Given the description of an element on the screen output the (x, y) to click on. 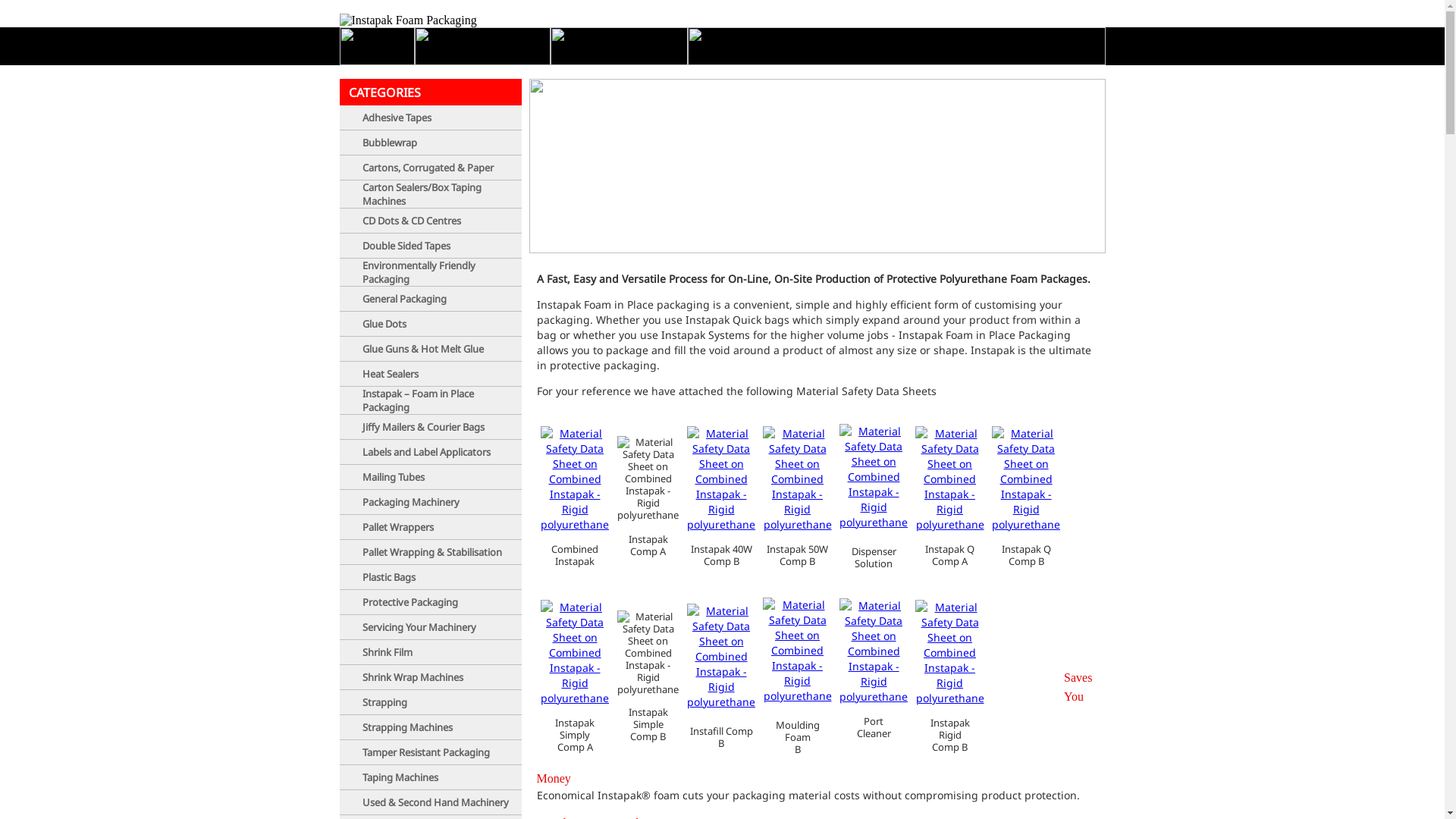
Dispenser Solution Element type: text (873, 557)
Instafill Comp B Element type: text (721, 736)
Plastic Bags Element type: text (388, 576)
Pallet Wrappers Element type: text (397, 526)
Moulding
Foam
B Element type: text (797, 737)
Protective Packaging Element type: text (410, 601)
Cartons, Corrugated & Paper Element type: text (427, 167)
Bubblewrap Element type: text (389, 142)
Taping Machines Element type: text (400, 777)
Heat Sealers Element type: text (390, 373)
Glue Guns & Hot Melt Glue Element type: text (422, 348)
Labels and Label Applicators Element type: text (426, 451)
Packaging Machinery Element type: text (410, 501)
Instapak 40W Comp B Element type: text (721, 554)
Instapak Q
Comp A Element type: text (949, 554)
Mailing Tubes Element type: text (393, 476)
Adhesive Tapes Element type: text (396, 117)
Port
Cleaner Element type: text (873, 727)
Combined Instapak Element type: text (574, 554)
Instapak Comp A Element type: text (648, 533)
Jiffy Mailers & Courier Bags Element type: text (423, 426)
Strapping Machines Element type: text (407, 727)
Pallet Wrapping & Stabilisation Element type: text (432, 551)
Instapak Simply
Comp A Element type: text (574, 734)
Carton Sealers/Box Taping Machines Element type: text (421, 193)
Double Sided Tapes Element type: text (406, 245)
Instapak Q
Comp B Element type: text (1026, 554)
Instapak 50W Comp B Element type: text (797, 554)
Instapak
Rigid
Comp B Element type: text (949, 734)
Servicing Your Machinery Element type: text (419, 626)
Instapak Simple
Comp B Element type: text (648, 724)
Tamper Resistant Packaging Element type: text (425, 752)
Environmentally Friendly Packaging Element type: text (418, 271)
Glue Dots Element type: text (384, 323)
Strapping Element type: text (384, 702)
Shrink Film Element type: text (387, 651)
Shrink Wrap Machines Element type: text (412, 677)
CD Dots & CD Centres Element type: text (411, 220)
General Packaging Element type: text (404, 298)
Used & Second Hand Machinery Element type: text (435, 802)
